Given the description of an element on the screen output the (x, y) to click on. 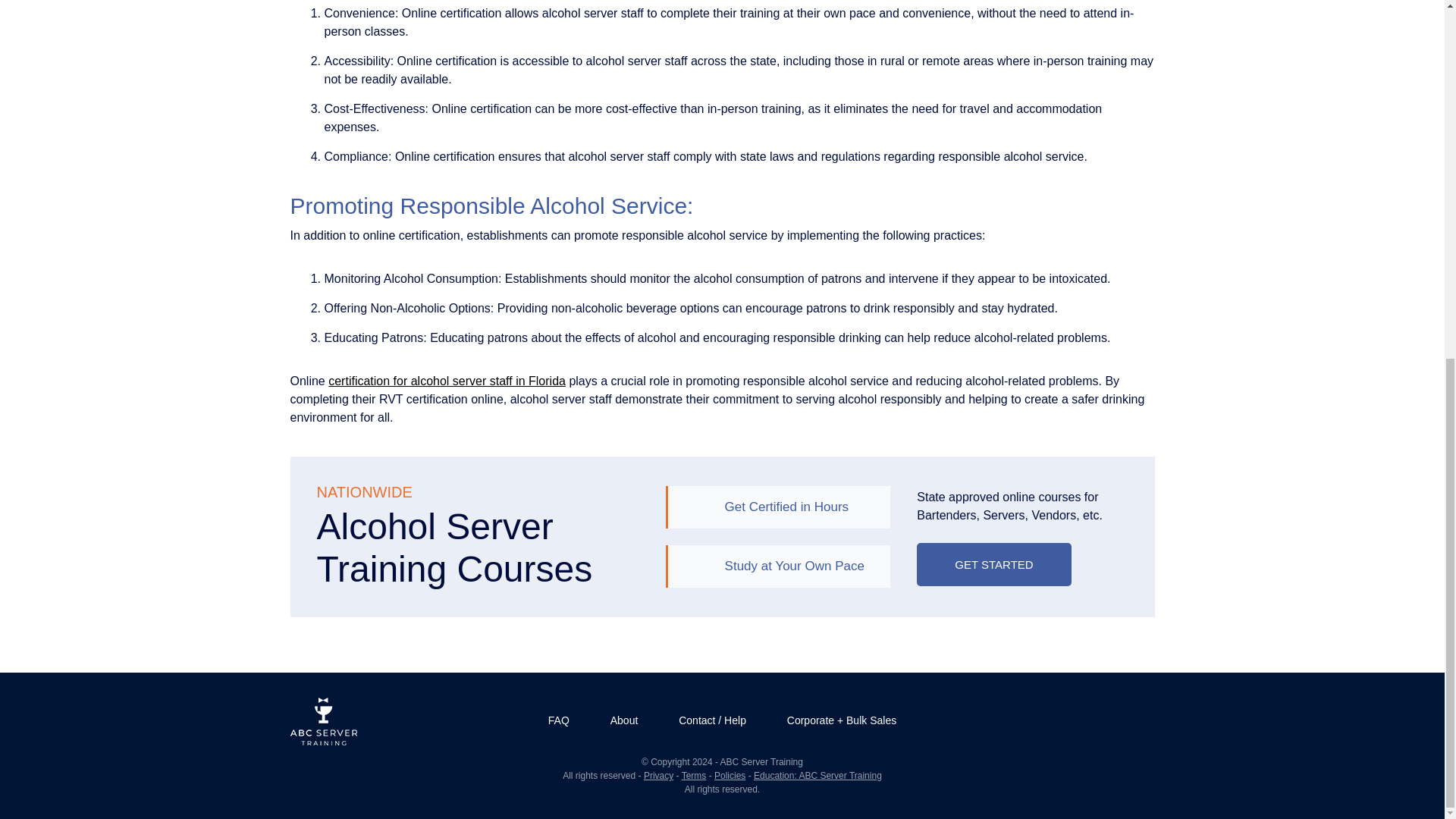
Education: ABC Server Training (818, 775)
Policies (729, 775)
Terms (693, 775)
About (624, 720)
certification for alcohol server staff in Florida (447, 380)
Privacy (657, 775)
GET STARTED (993, 563)
FAQ (558, 720)
